Given the description of an element on the screen output the (x, y) to click on. 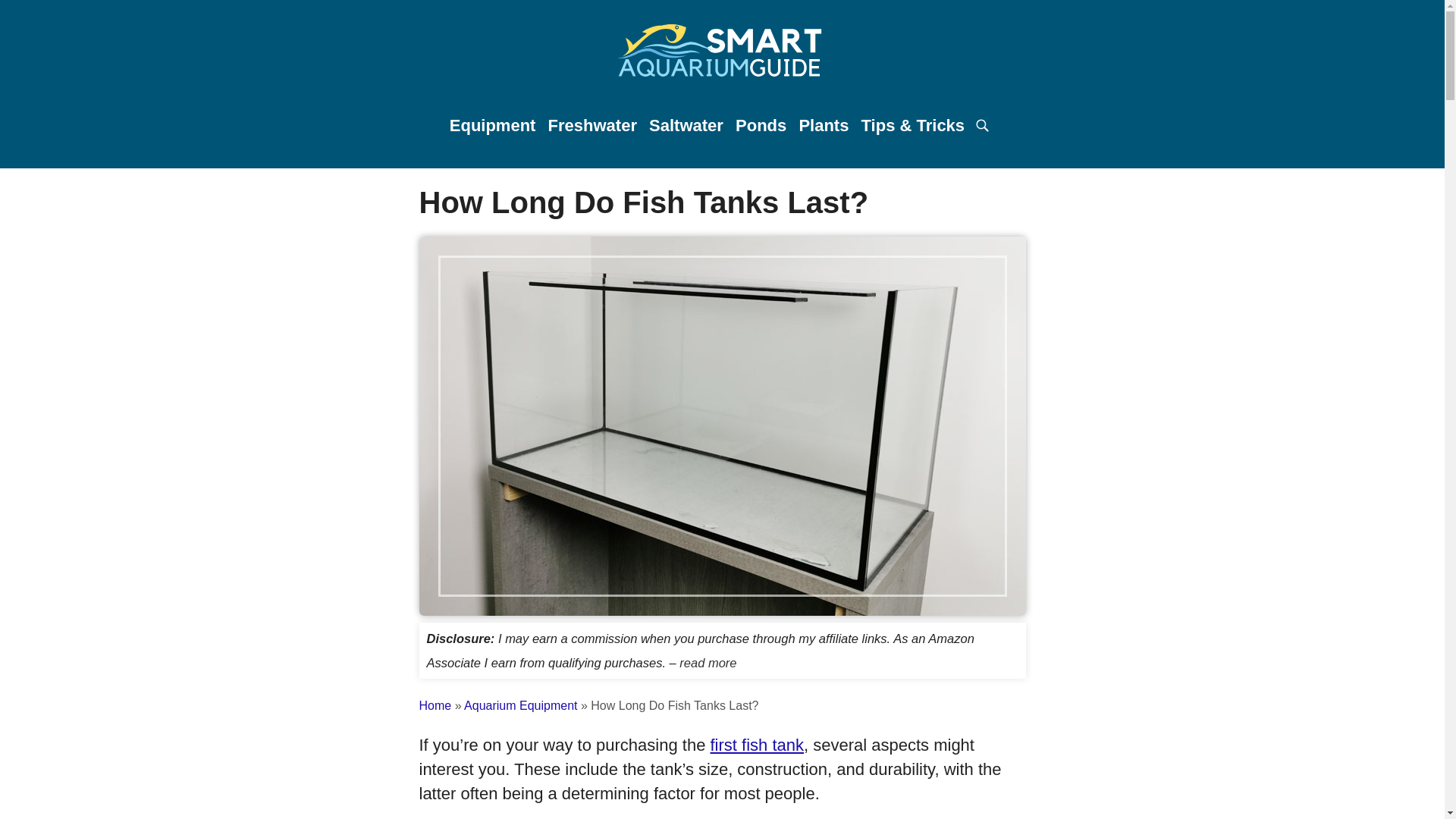
Smart Aquarium Guide (721, 52)
first fish tank (756, 744)
Saltwater (686, 125)
Plants (822, 125)
Aquarium Equipment (520, 705)
read more (707, 662)
Home (435, 705)
Equipment (492, 125)
Ponds (760, 125)
Freshwater (592, 125)
